Given the description of an element on the screen output the (x, y) to click on. 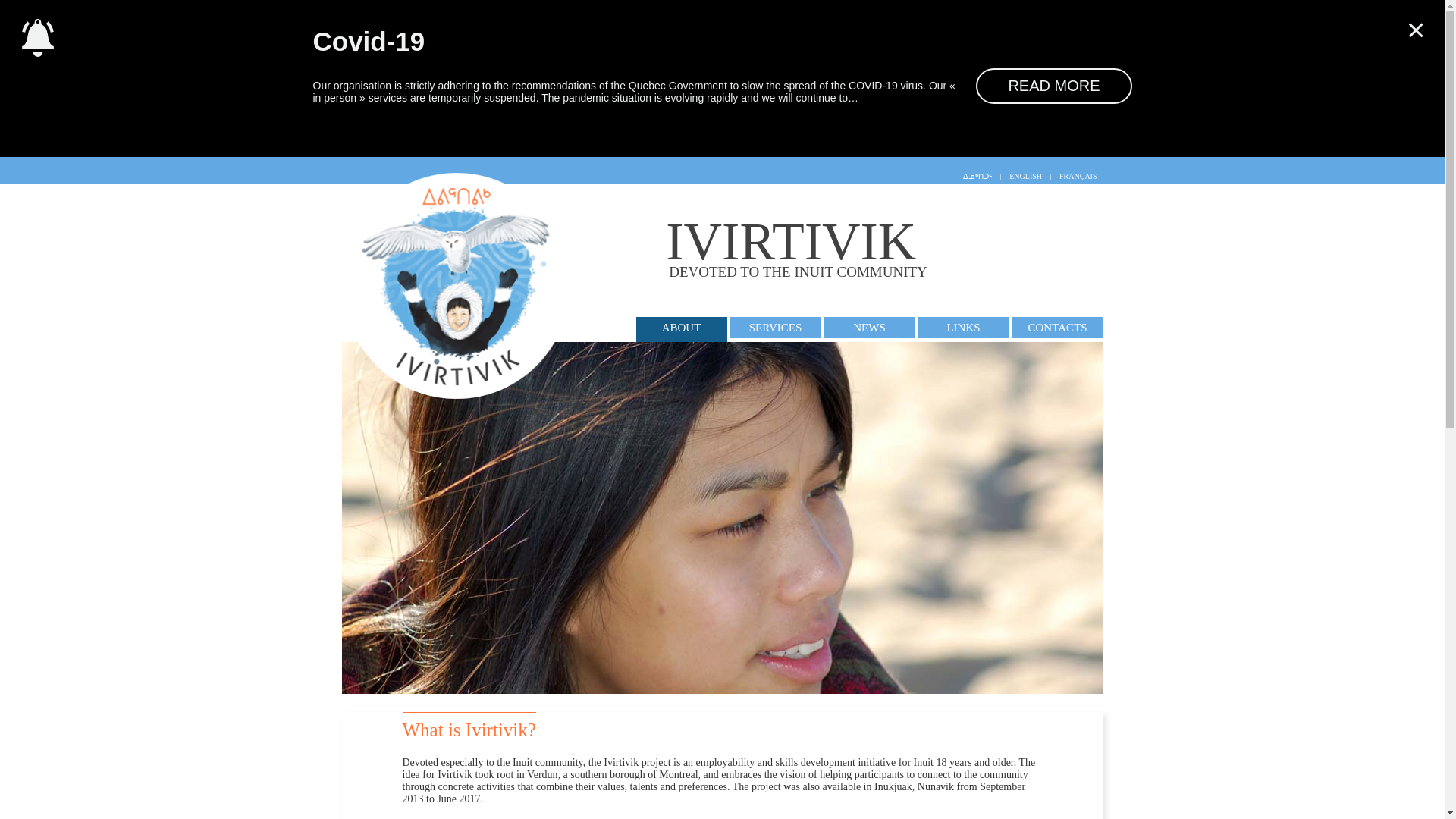
ABOUT (680, 329)
NEWS (869, 327)
CONTACTS (1056, 327)
ENGLISH (1025, 176)
SERVICES (885, 250)
READ MORE (775, 327)
LINKS (1053, 85)
